Given the description of an element on the screen output the (x, y) to click on. 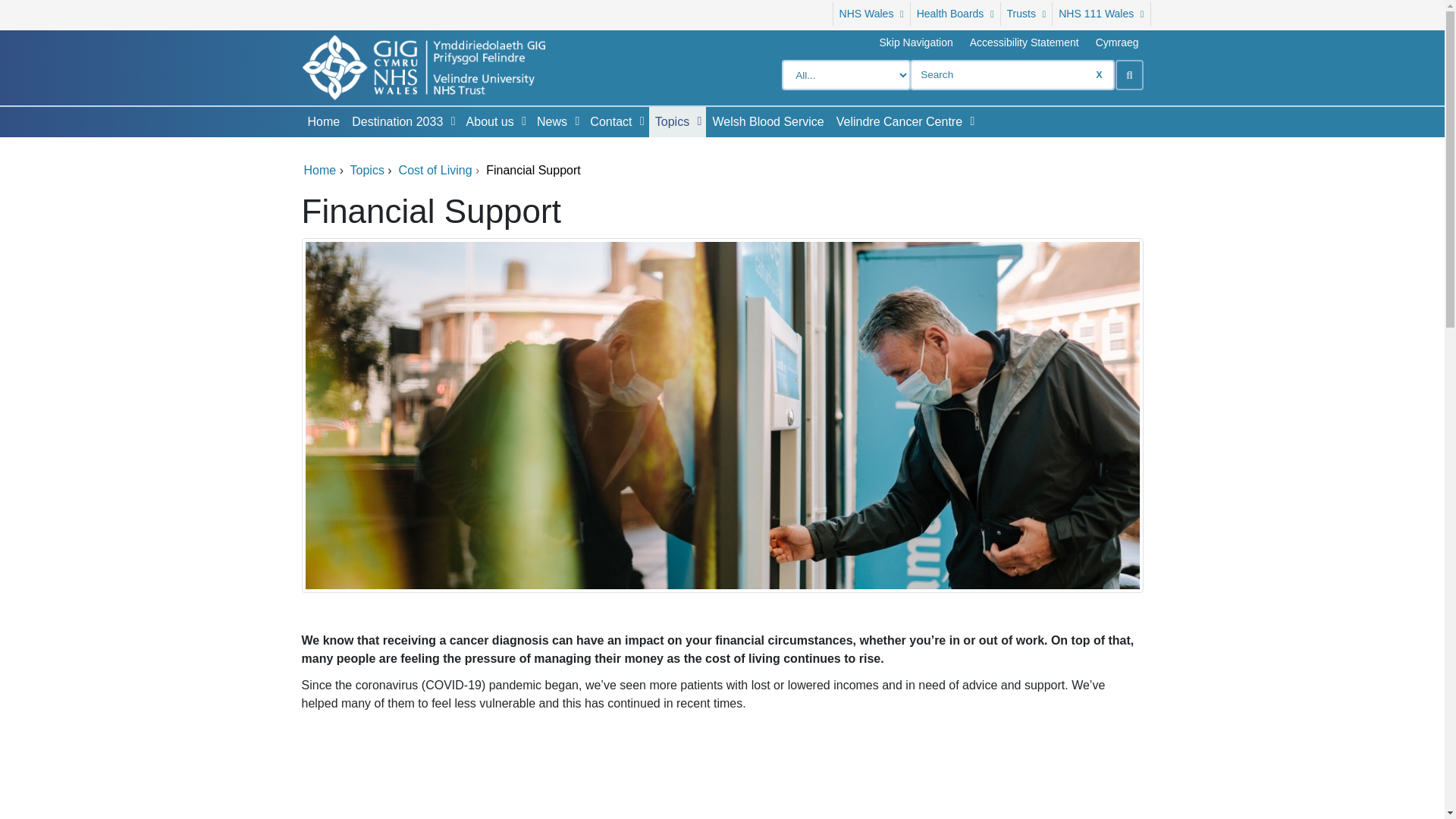
News (549, 122)
Show Submenu For About us (523, 120)
Accessibility Statement (1024, 42)
Show Submenu For Contact (641, 120)
Destination 2033 (394, 122)
Health Boards (955, 13)
Show Submenu For Destination 2033 (453, 120)
Trusts (1026, 13)
About us (486, 122)
Skip Navigation (914, 42)
